Given the description of an element on the screen output the (x, y) to click on. 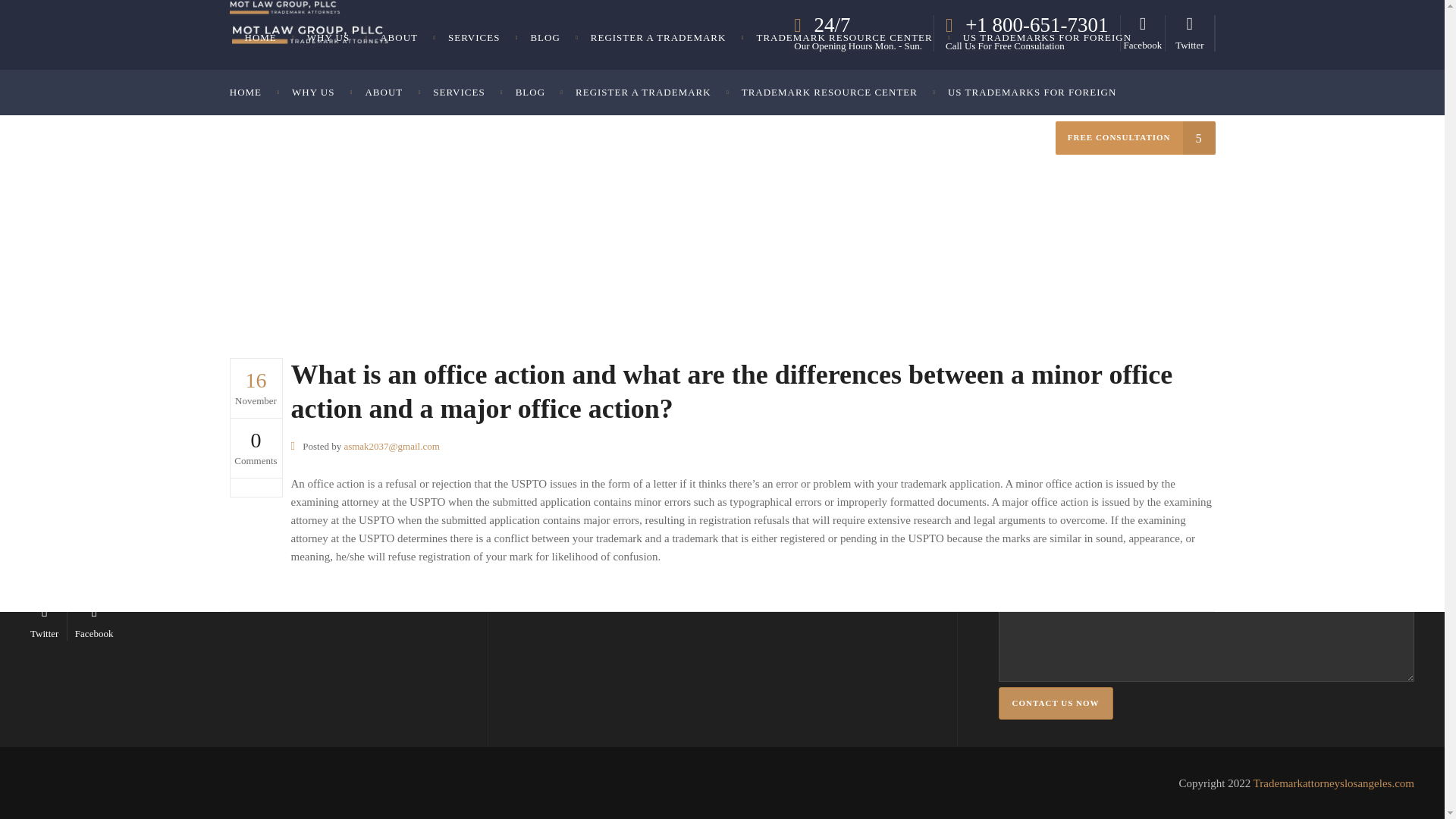
WHY US (328, 37)
HOME (259, 37)
BLOG (530, 92)
US TRADEMARKS FOR FOREIGN (1032, 92)
WHY US (312, 92)
REGISTER A TRADEMARK (643, 92)
BLOG (545, 37)
SERVICES (458, 92)
ABOUT (398, 37)
HOME (253, 92)
